Given the description of an element on the screen output the (x, y) to click on. 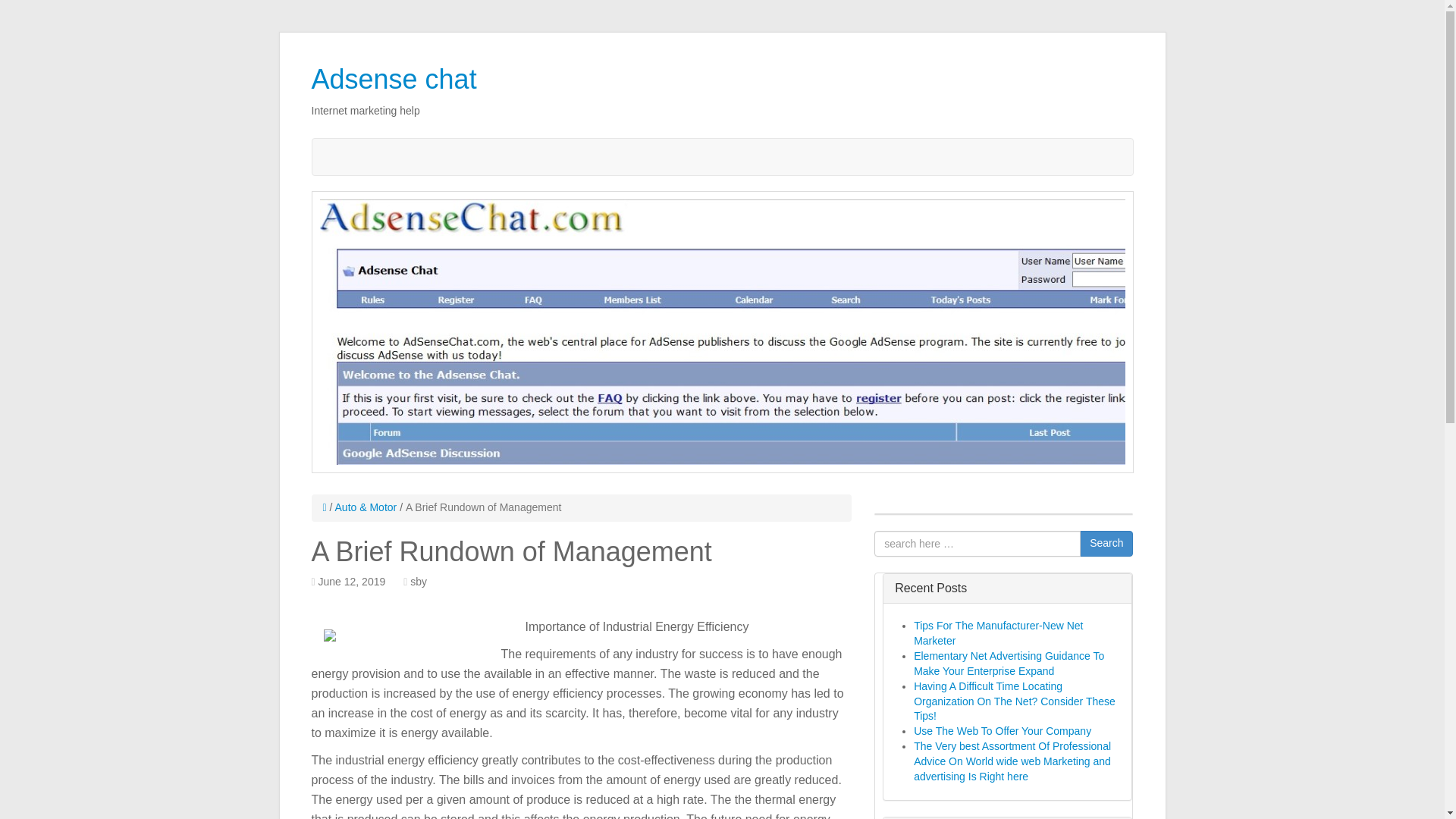
June 12, 2019 (351, 581)
Adsense chat (393, 79)
sby (418, 581)
Adsense chat (393, 79)
Tips For The Manufacturer-New Net Marketer (998, 633)
Search (1106, 543)
Use The Web To Offer Your Company (1002, 730)
